Given the description of an element on the screen output the (x, y) to click on. 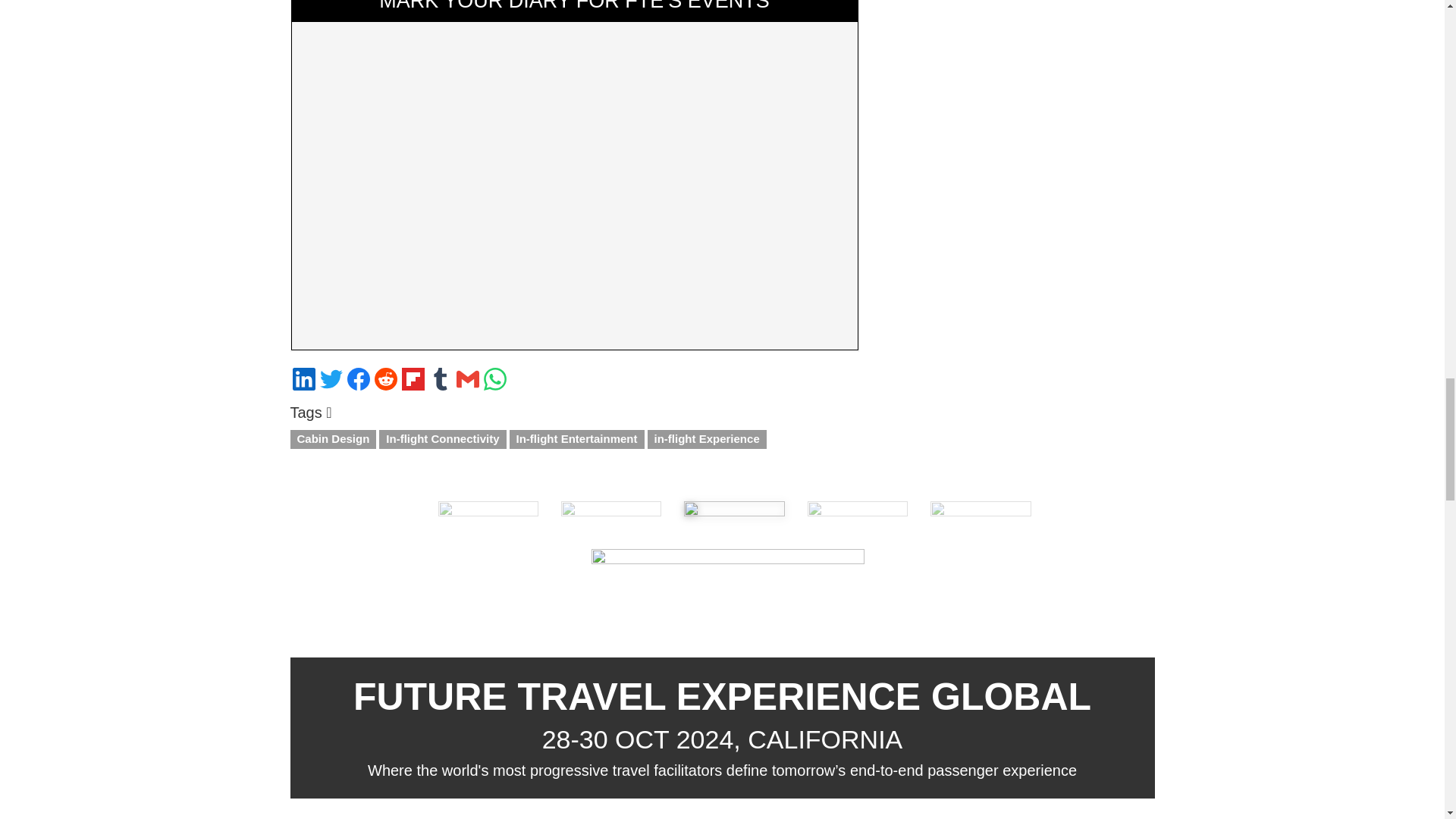
Cabin Design (332, 438)
In-flight Entertainment (577, 438)
In-flight Connectivity (441, 438)
in-flight Experience (707, 438)
